Given the description of an element on the screen output the (x, y) to click on. 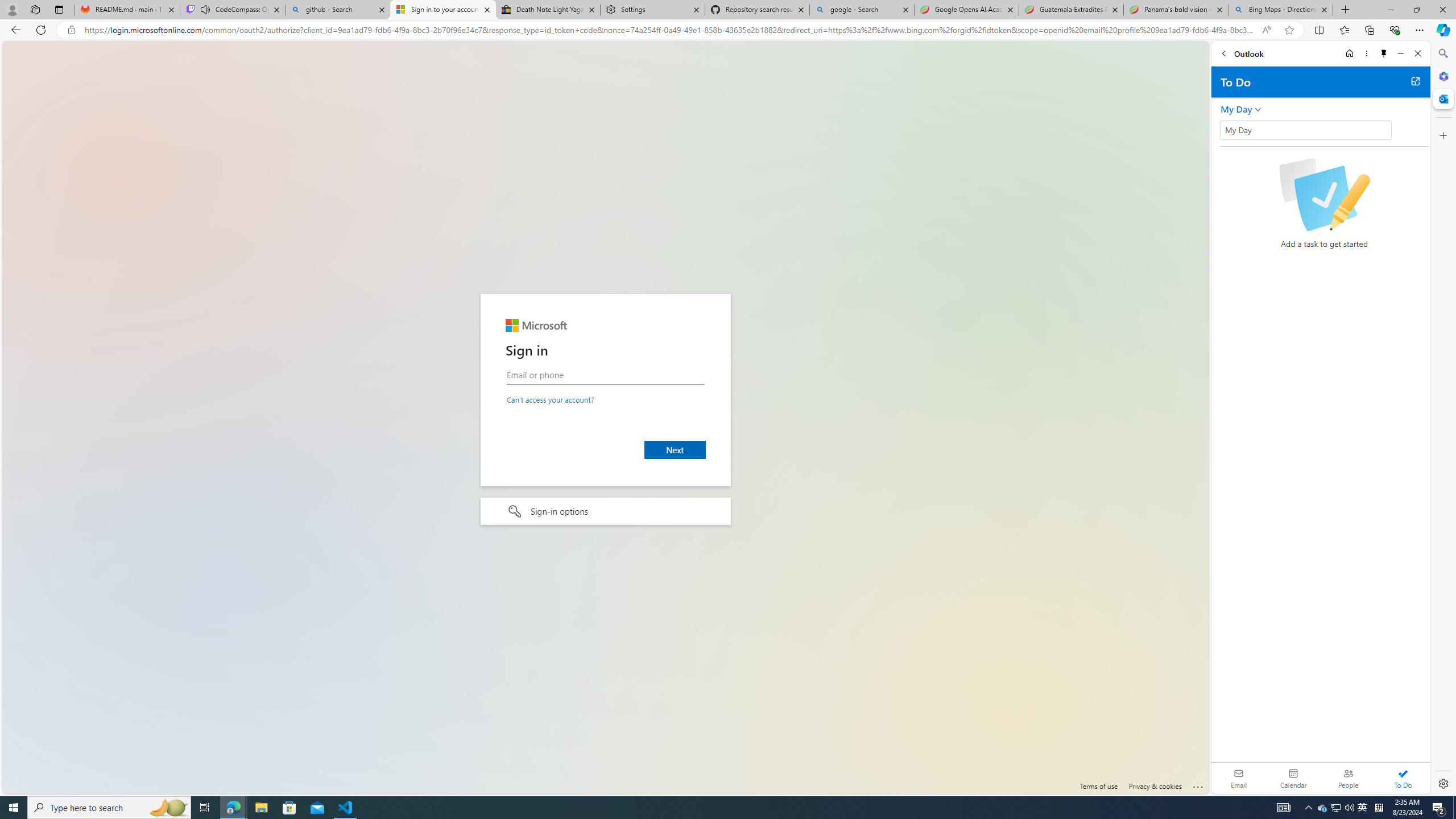
Open in new tab (1414, 80)
My Day (1236, 109)
Add a task (1334, 133)
Class: wL_Ii70haOUOvHnsRwbD (1305, 130)
